Given the description of an element on the screen output the (x, y) to click on. 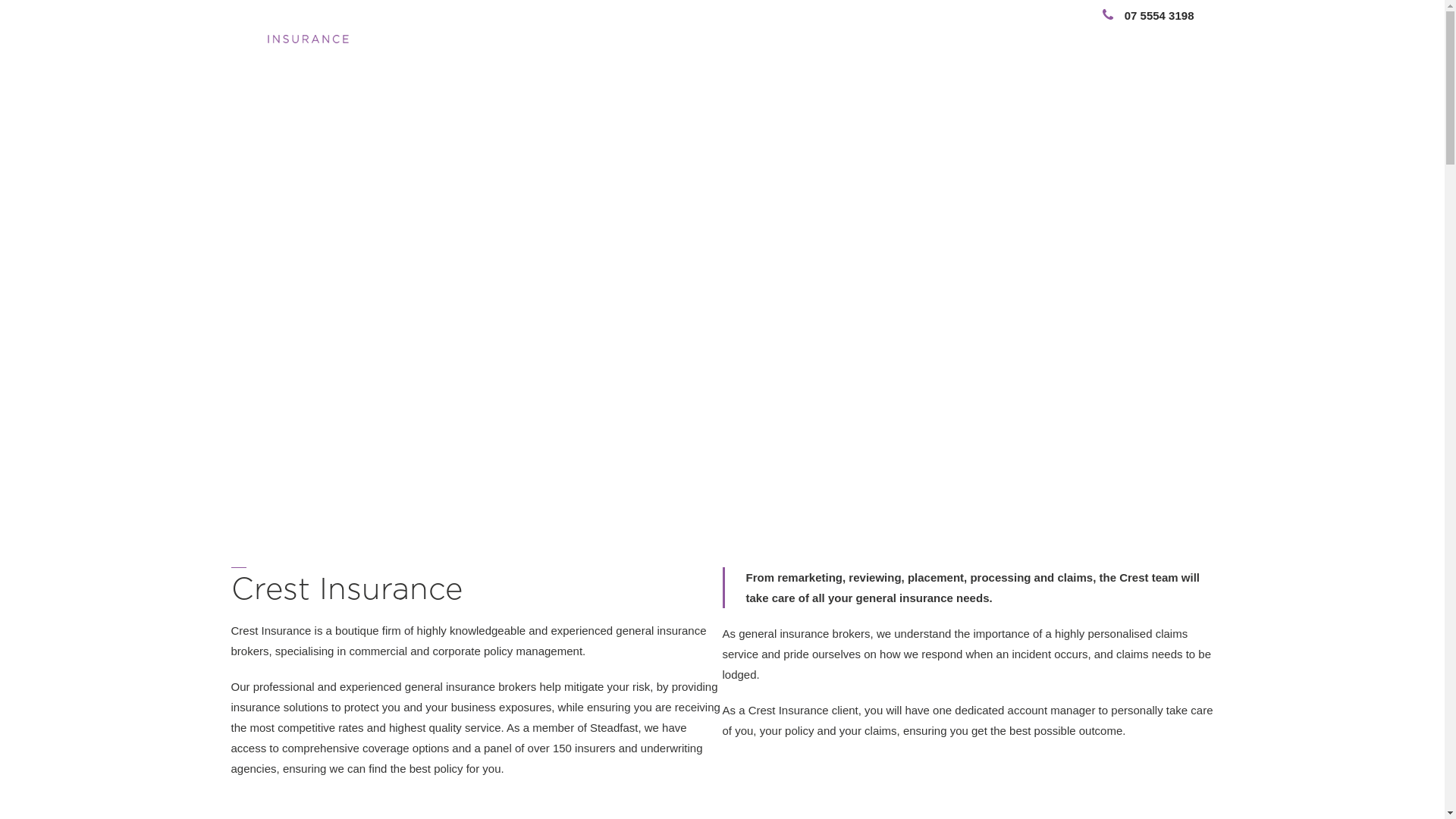
Search Element type: text (1142, 34)
07 5554 3198 Element type: text (1148, 15)
